Given the description of an element on the screen output the (x, y) to click on. 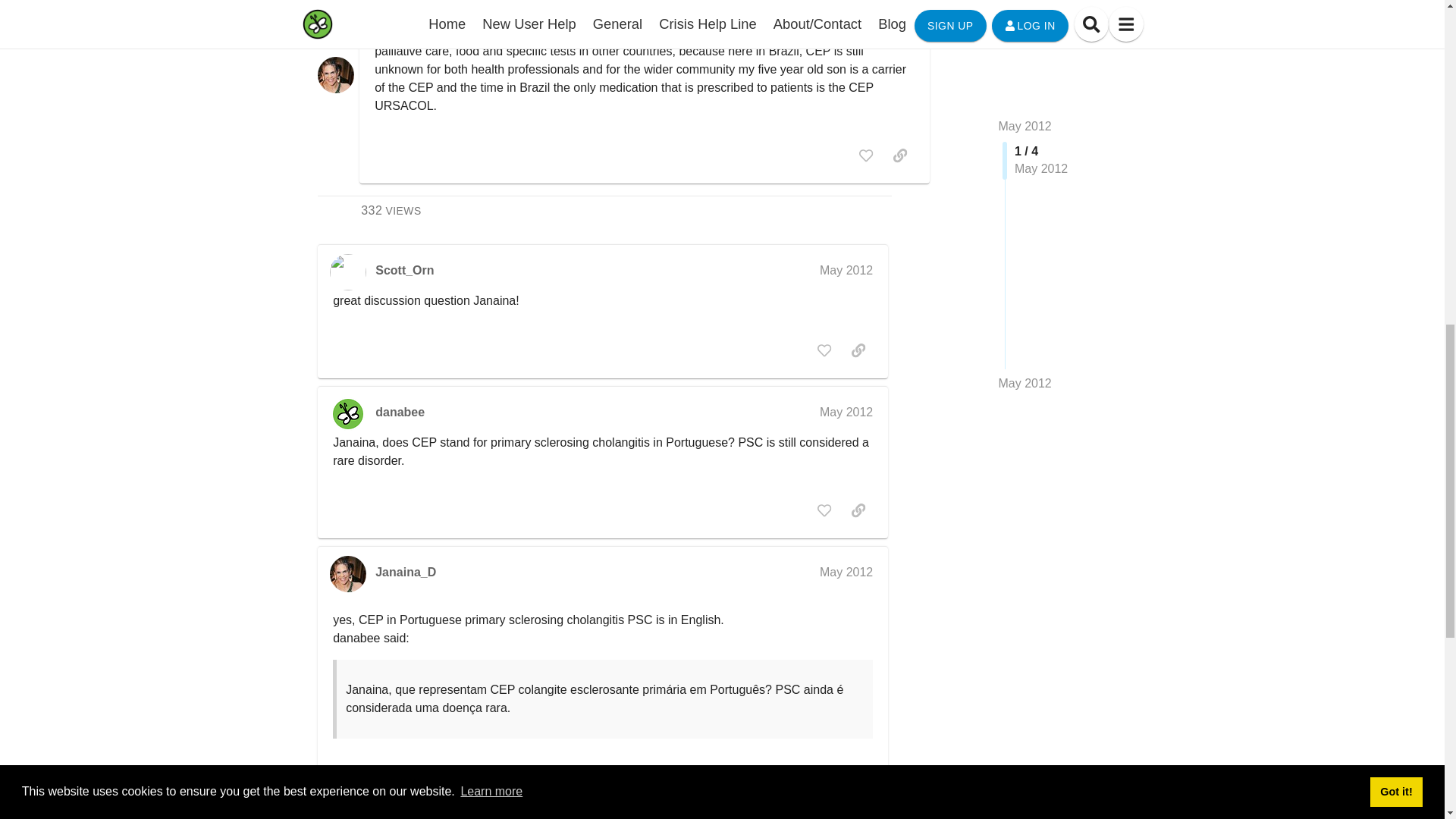
May 2012 (887, 4)
Post date (887, 4)
May 2012 (845, 411)
Jump to the last post (390, 210)
danabee (1024, 278)
May 2012 (400, 412)
like this post (1024, 279)
Post date (865, 155)
May 2012 (845, 269)
